Given the description of an element on the screen output the (x, y) to click on. 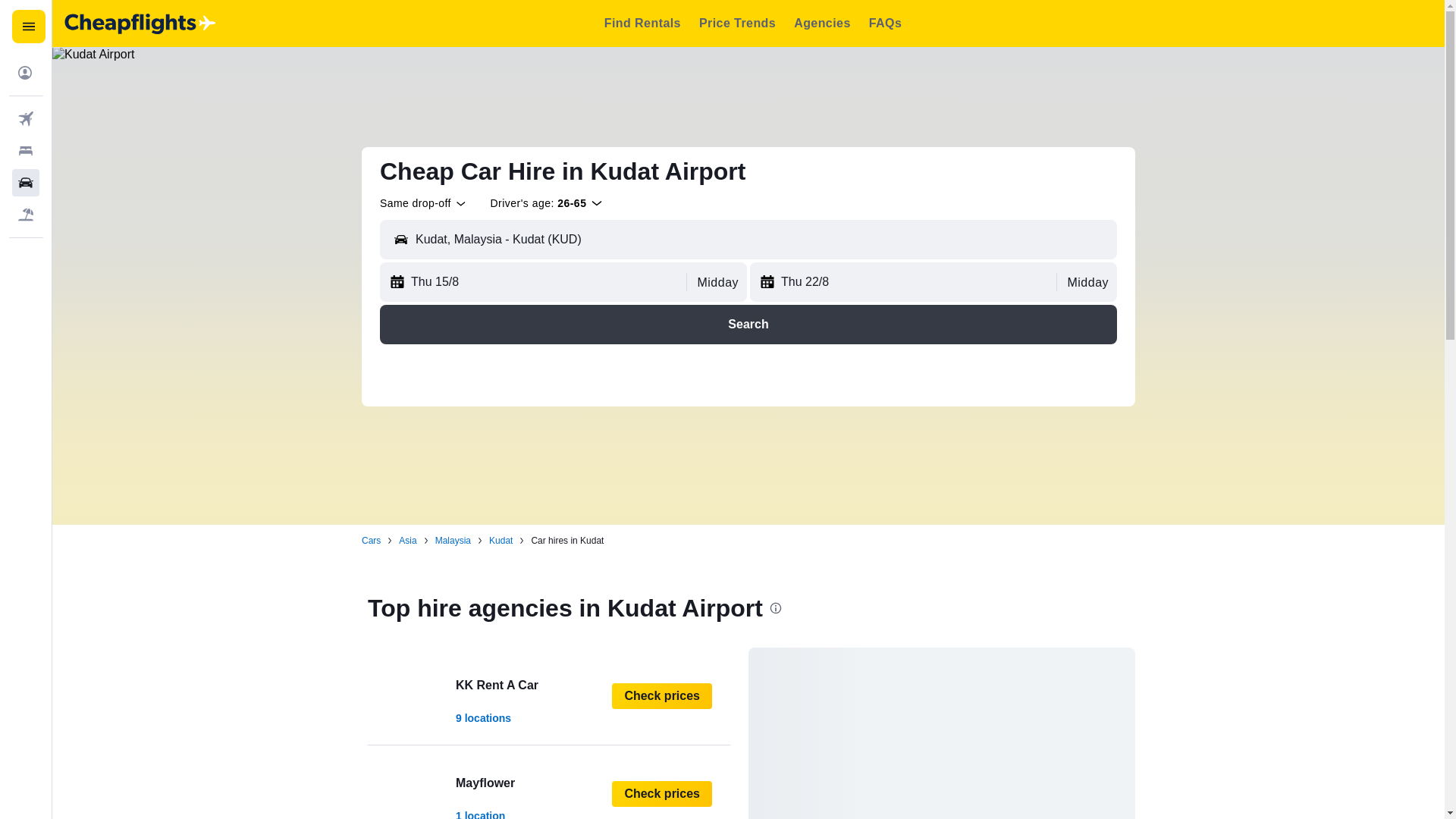
Cars (548, 786)
Check prices (370, 540)
Asia (661, 696)
Search (407, 540)
Kudat (548, 695)
Check prices (748, 323)
Malaysia (500, 540)
Search (661, 793)
